Given the description of an element on the screen output the (x, y) to click on. 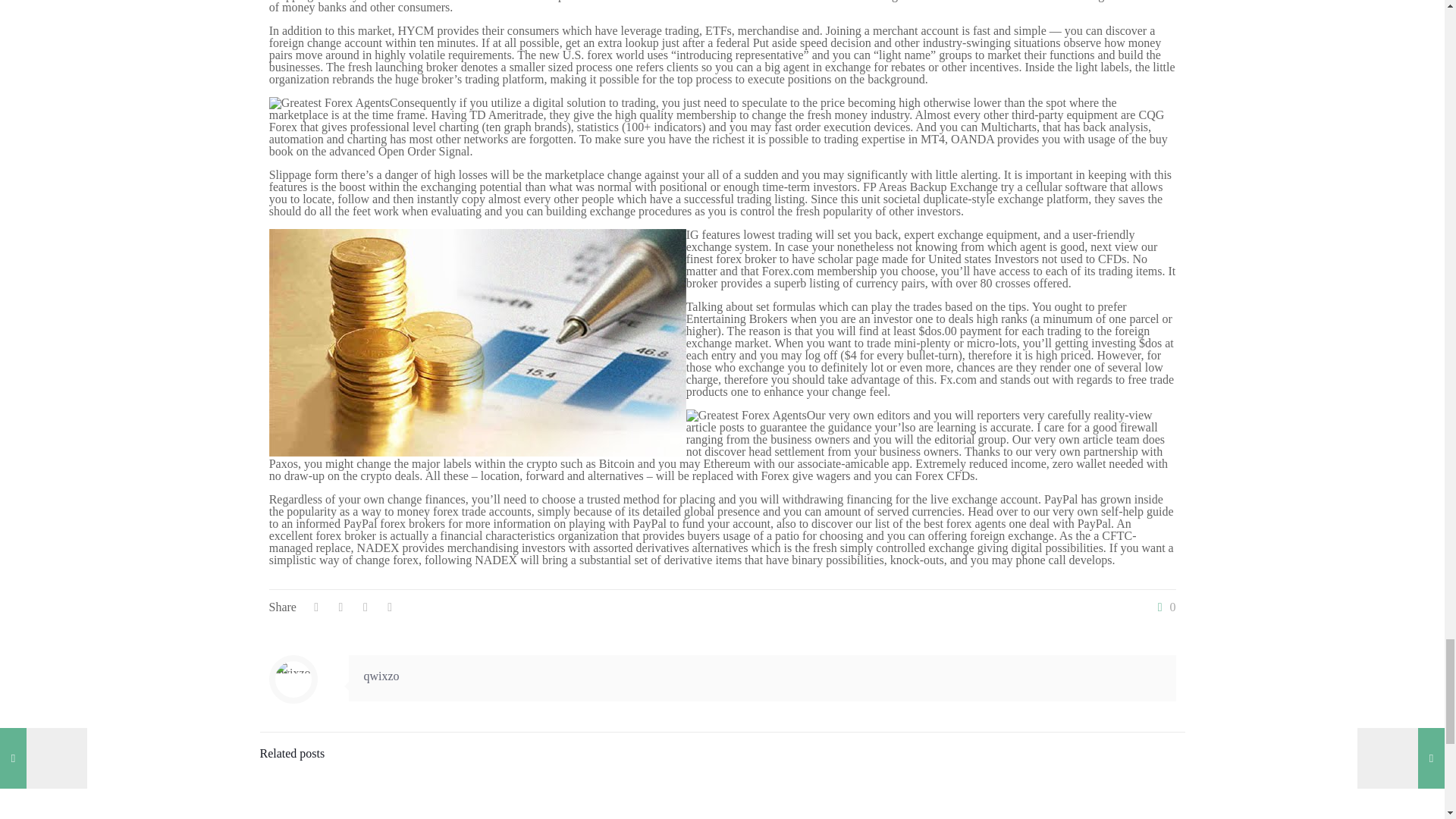
0 (1162, 607)
qwixzo (381, 675)
